Given the description of an element on the screen output the (x, y) to click on. 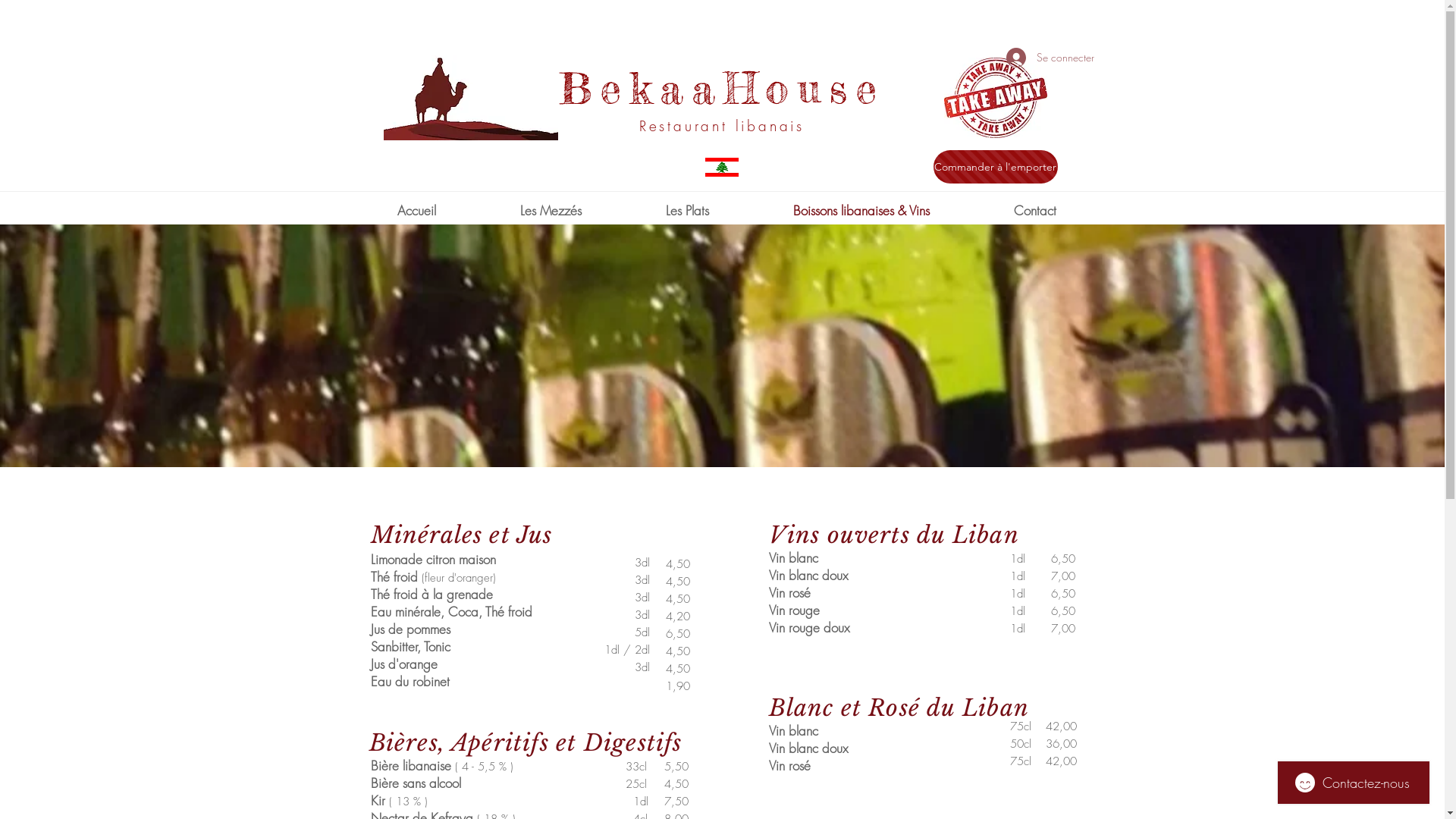
Se connecter Element type: text (1039, 57)
Les Plats Element type: text (686, 210)
Boissons libanaises & Vins Element type: text (860, 210)
BekaaHouse Element type: text (721, 87)
Contact Element type: text (1035, 210)
Accueil Element type: text (415, 210)
Restaurant Social Bar Element type: hover (1010, 29)
